Given the description of an element on the screen output the (x, y) to click on. 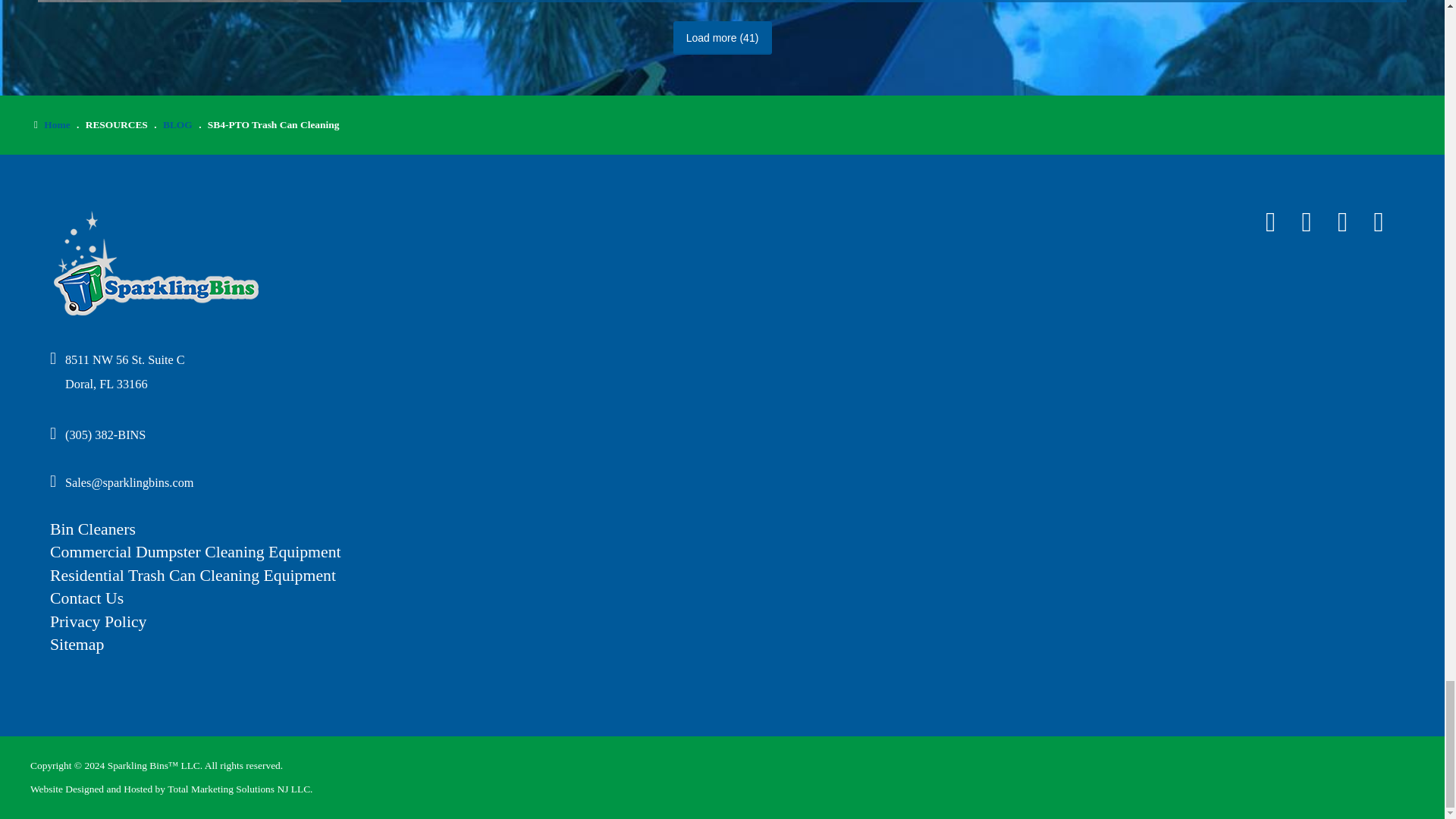
Visit Total Marketing (238, 788)
